Given the description of an element on the screen output the (x, y) to click on. 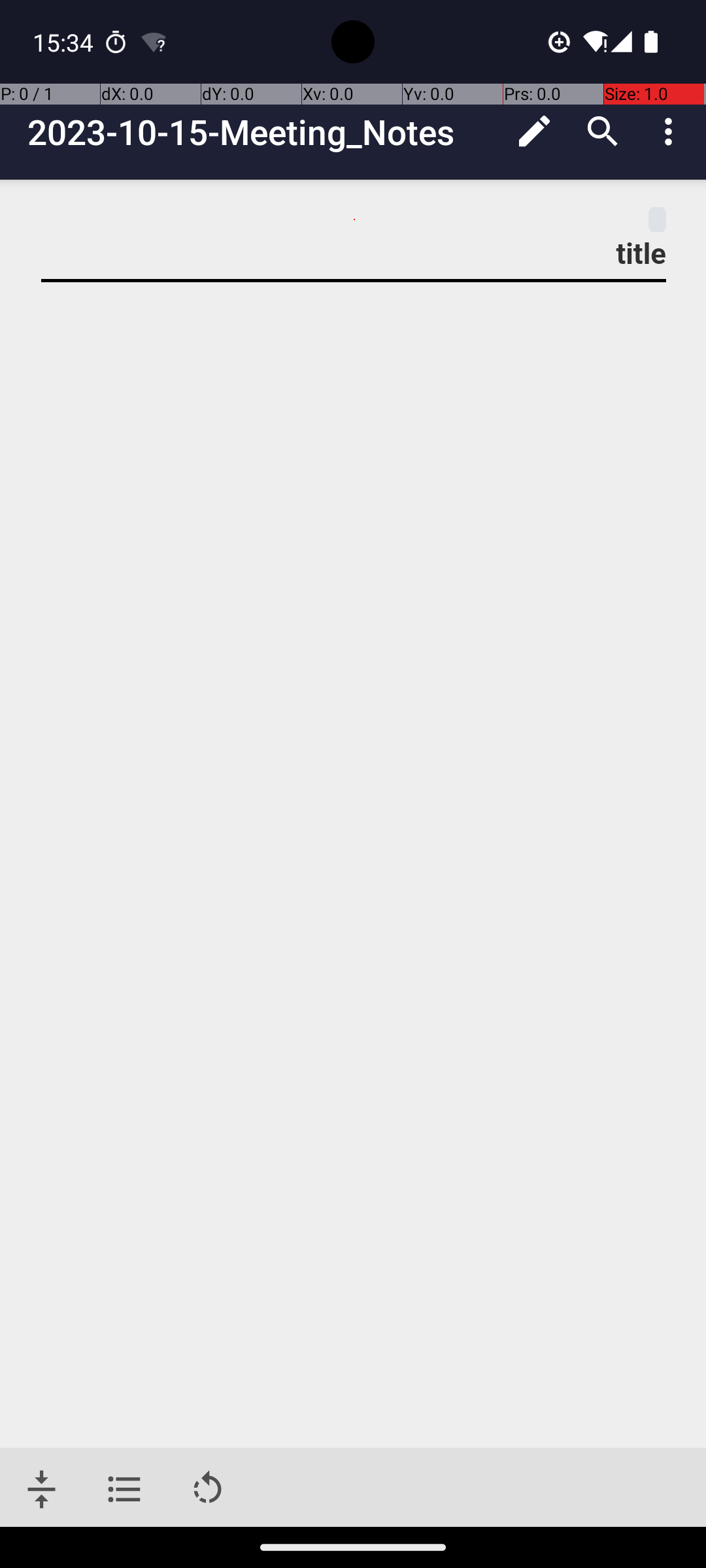
2023-10-15-Meeting_Notes Element type: android.widget.TextView (263, 131)

 Element type: android.widget.TextView (354, 219)
title Element type: android.widget.TextView (354, 253)
